Given the description of an element on the screen output the (x, y) to click on. 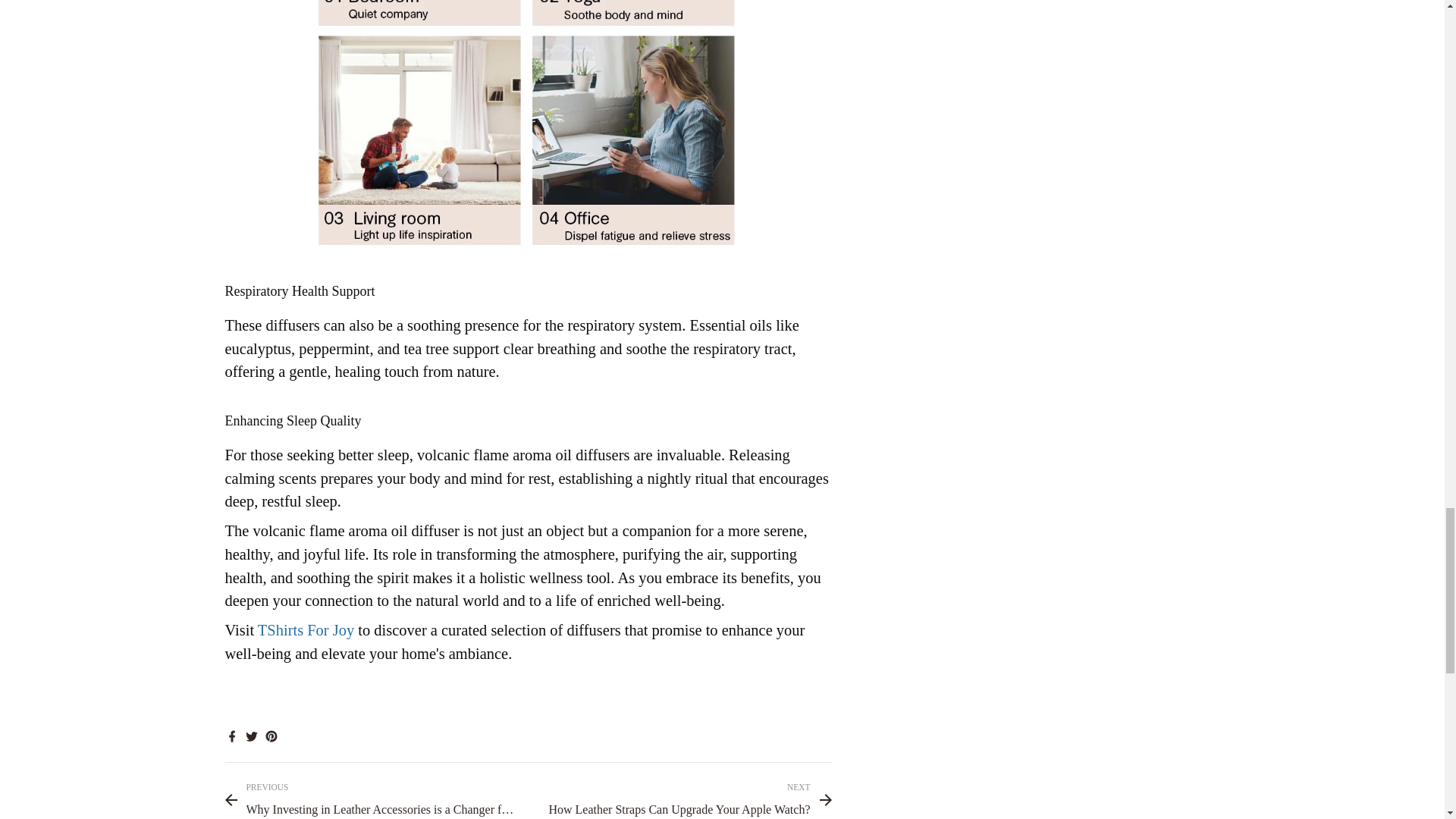
Share on Twitter (250, 734)
Share on Facebook (231, 734)
Pin on Pinterest (270, 734)
TShirts For Joy (305, 629)
